Given the description of an element on the screen output the (x, y) to click on. 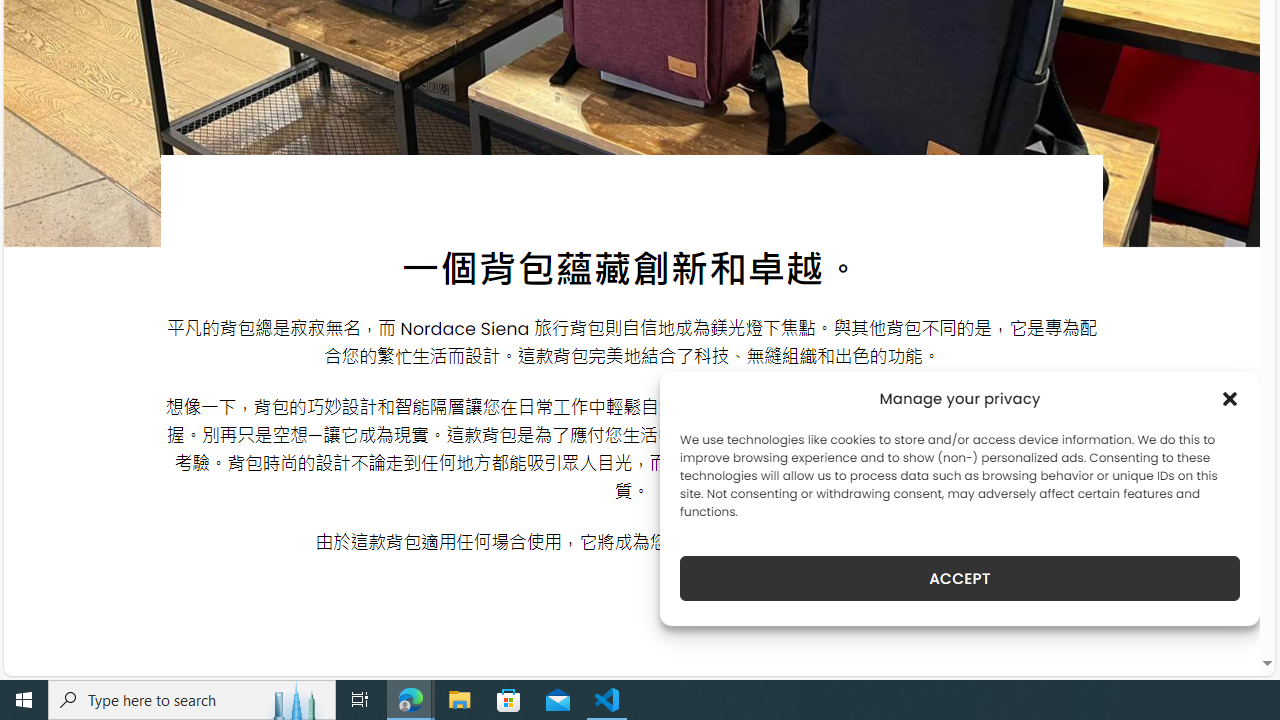
Class: cmplz-close (1229, 398)
File Explorer (460, 699)
ACCEPT (959, 578)
Microsoft Store (509, 699)
Task View (359, 699)
Type here to search (191, 699)
Microsoft Edge - 2 running windows (411, 699)
Visual Studio Code - 1 running window (607, 699)
Search highlights icon opens search home window (295, 699)
Start (24, 699)
